Given the description of an element on the screen output the (x, y) to click on. 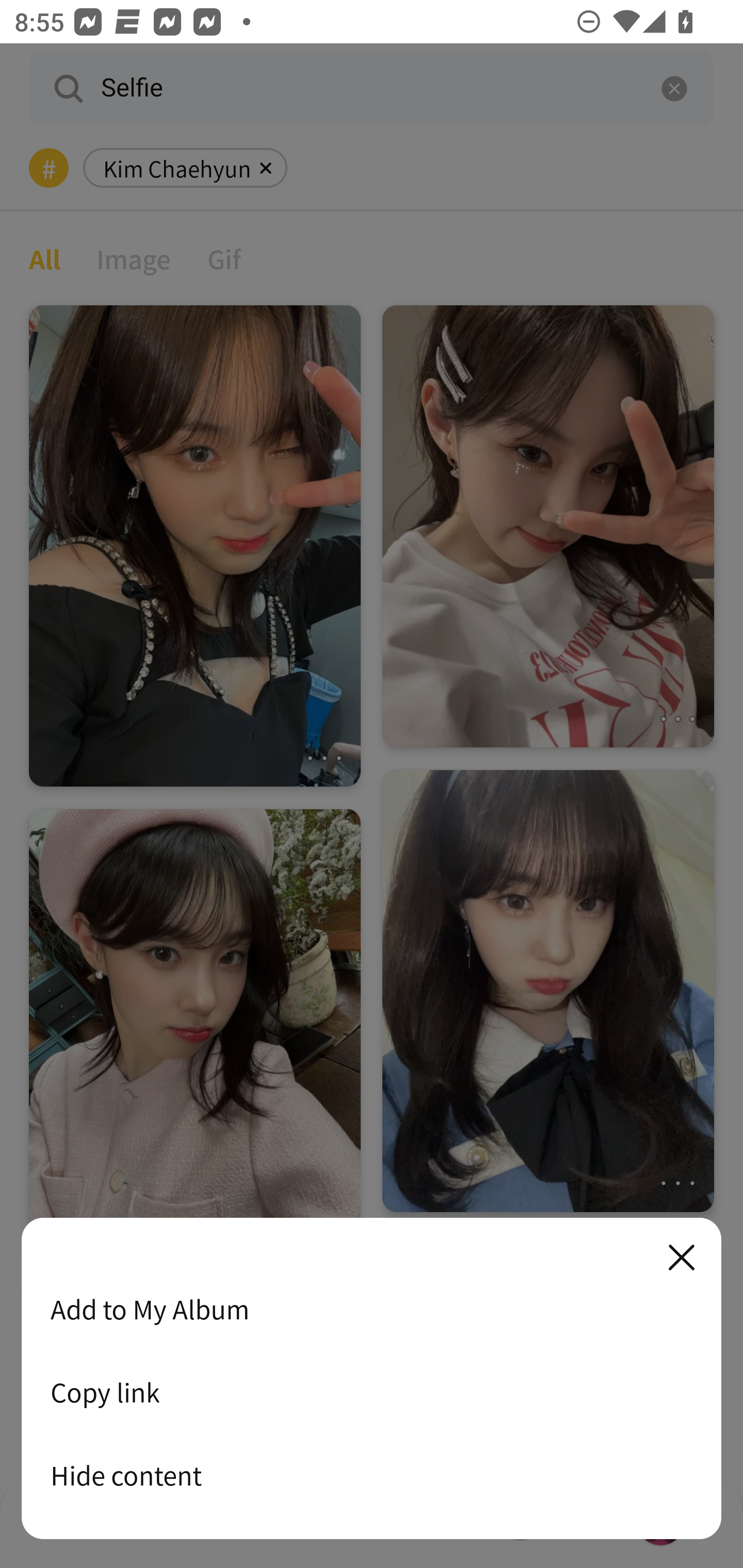
Add to My Album Copy link Hide content (371, 1378)
Add to My Album (371, 1308)
Copy link (371, 1391)
Hide content (371, 1474)
